Given the description of an element on the screen output the (x, y) to click on. 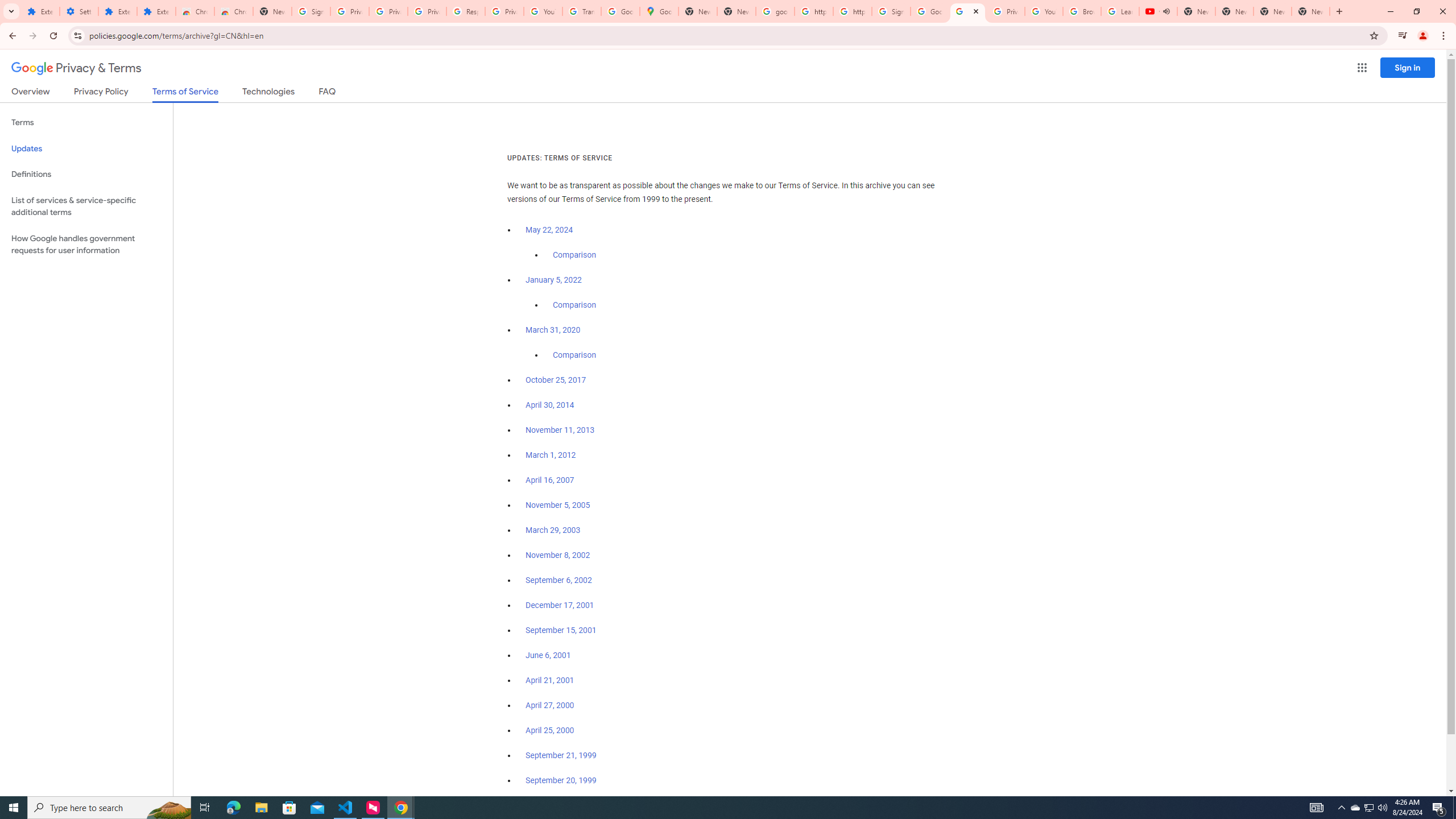
Comparison (574, 355)
Sign in - Google Accounts (890, 11)
September 6, 2002 (558, 579)
June 6, 2001 (547, 655)
December 17, 2001 (559, 605)
April 25, 2000 (550, 729)
